Given the description of an element on the screen output the (x, y) to click on. 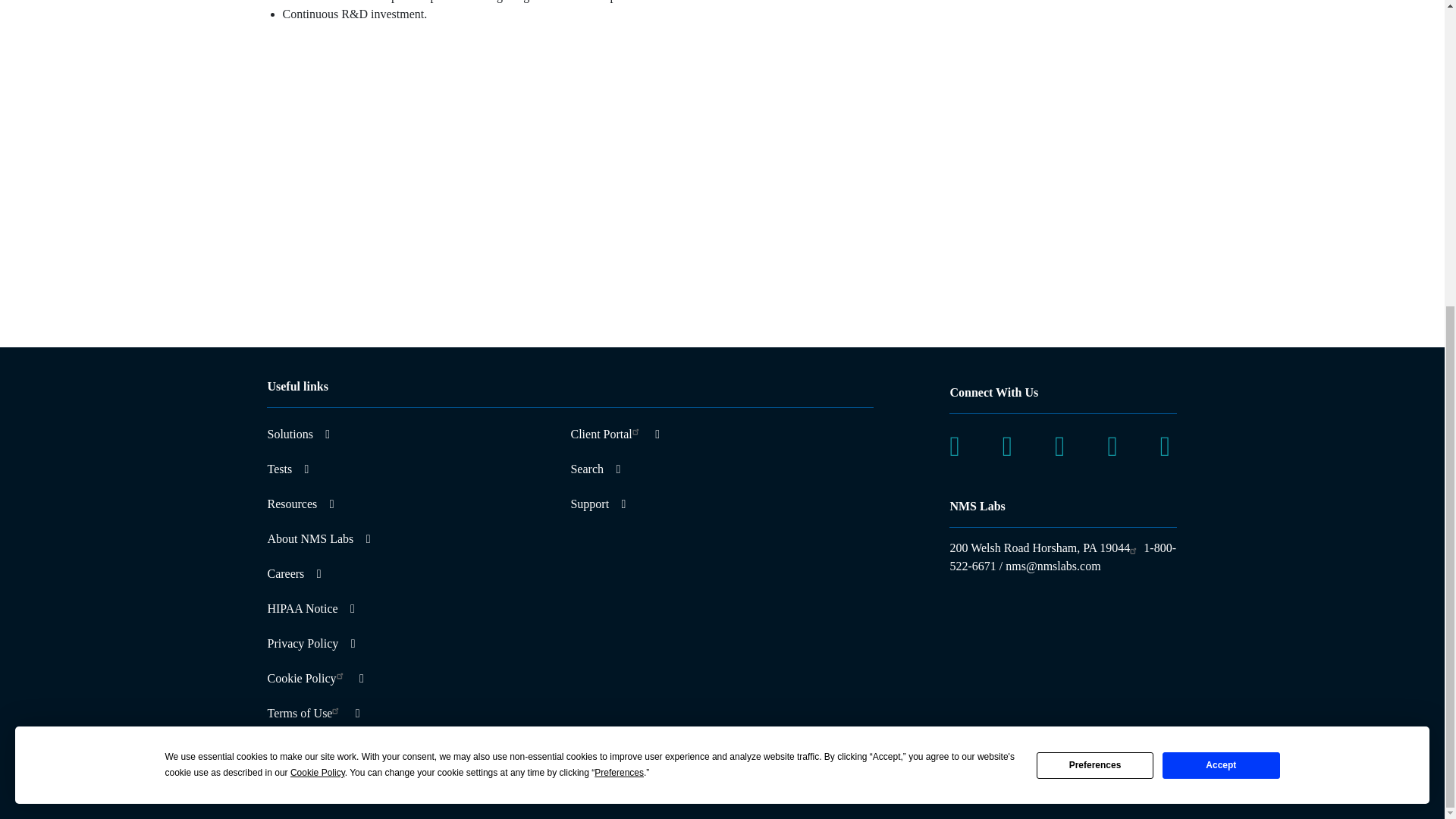
Preferences (1094, 284)
Accept (1220, 284)
